Given the description of an element on the screen output the (x, y) to click on. 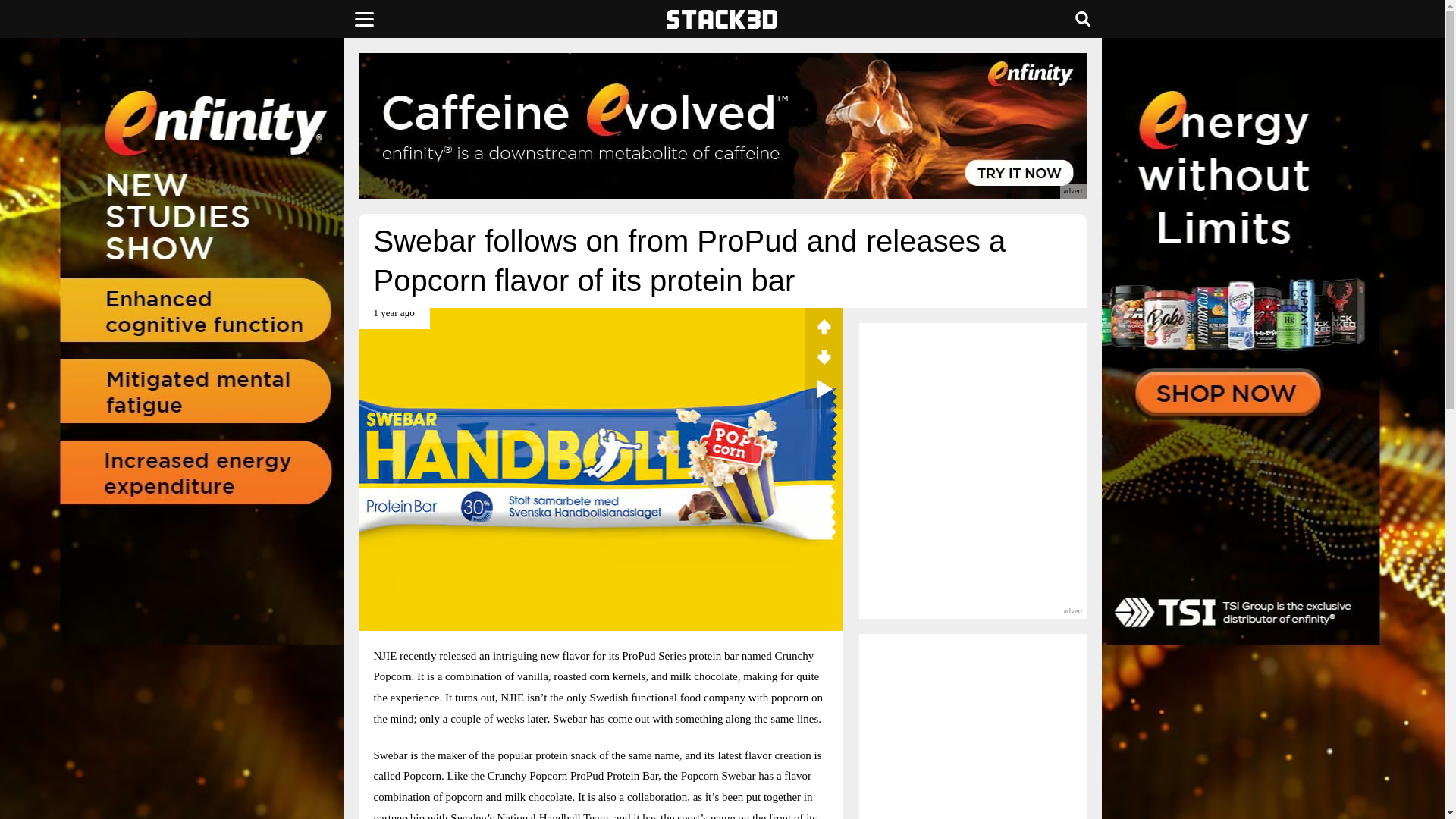
September 6th 2022 (393, 318)
recently released (437, 655)
